Given the description of an element on the screen output the (x, y) to click on. 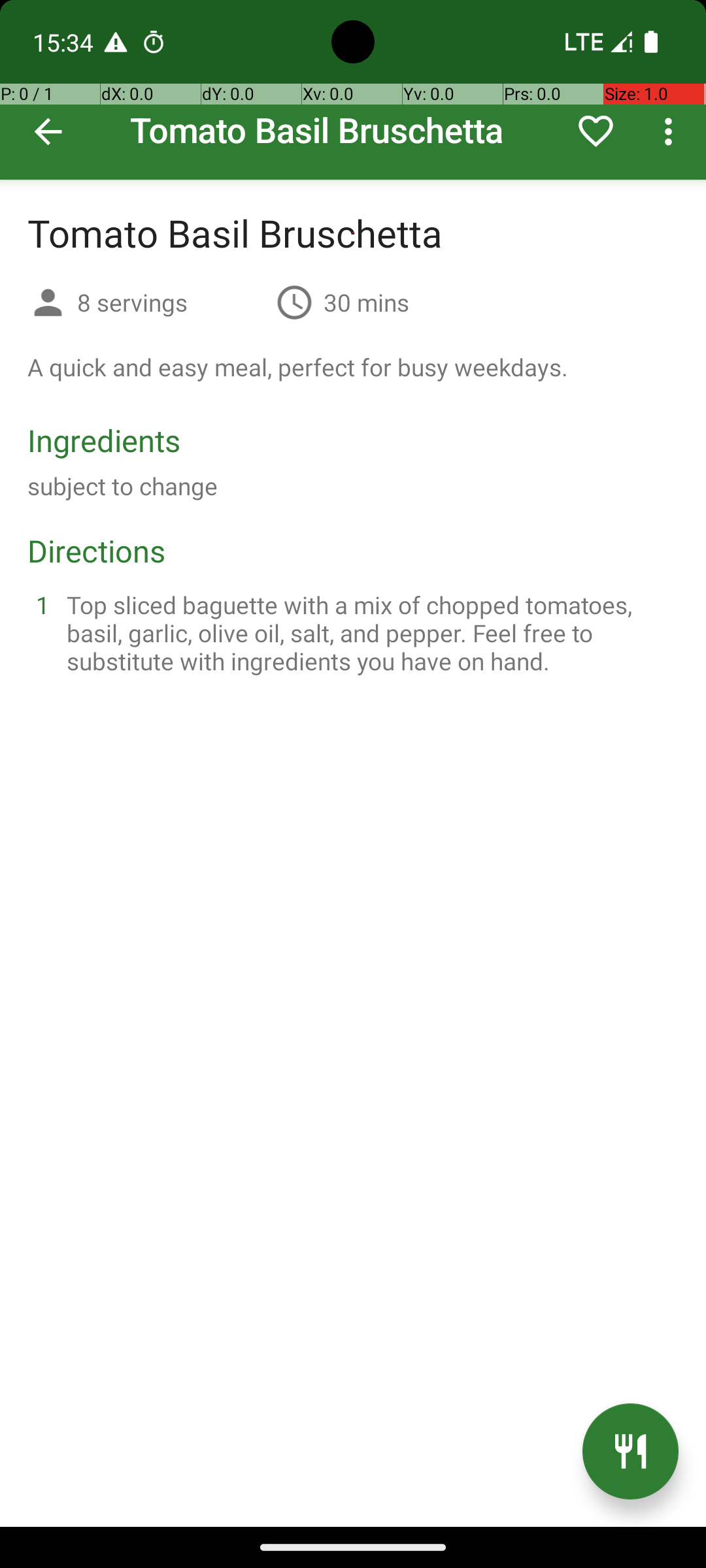
Tomato Basil Bruschetta Element type: android.widget.FrameLayout (353, 89)
subject to change Element type: android.widget.TextView (122, 485)
Top sliced baguette with a mix of chopped tomatoes, basil, garlic, olive oil, salt, and pepper. Feel free to substitute with ingredients you have on hand. Element type: android.widget.TextView (368, 632)
